Given the description of an element on the screen output the (x, y) to click on. 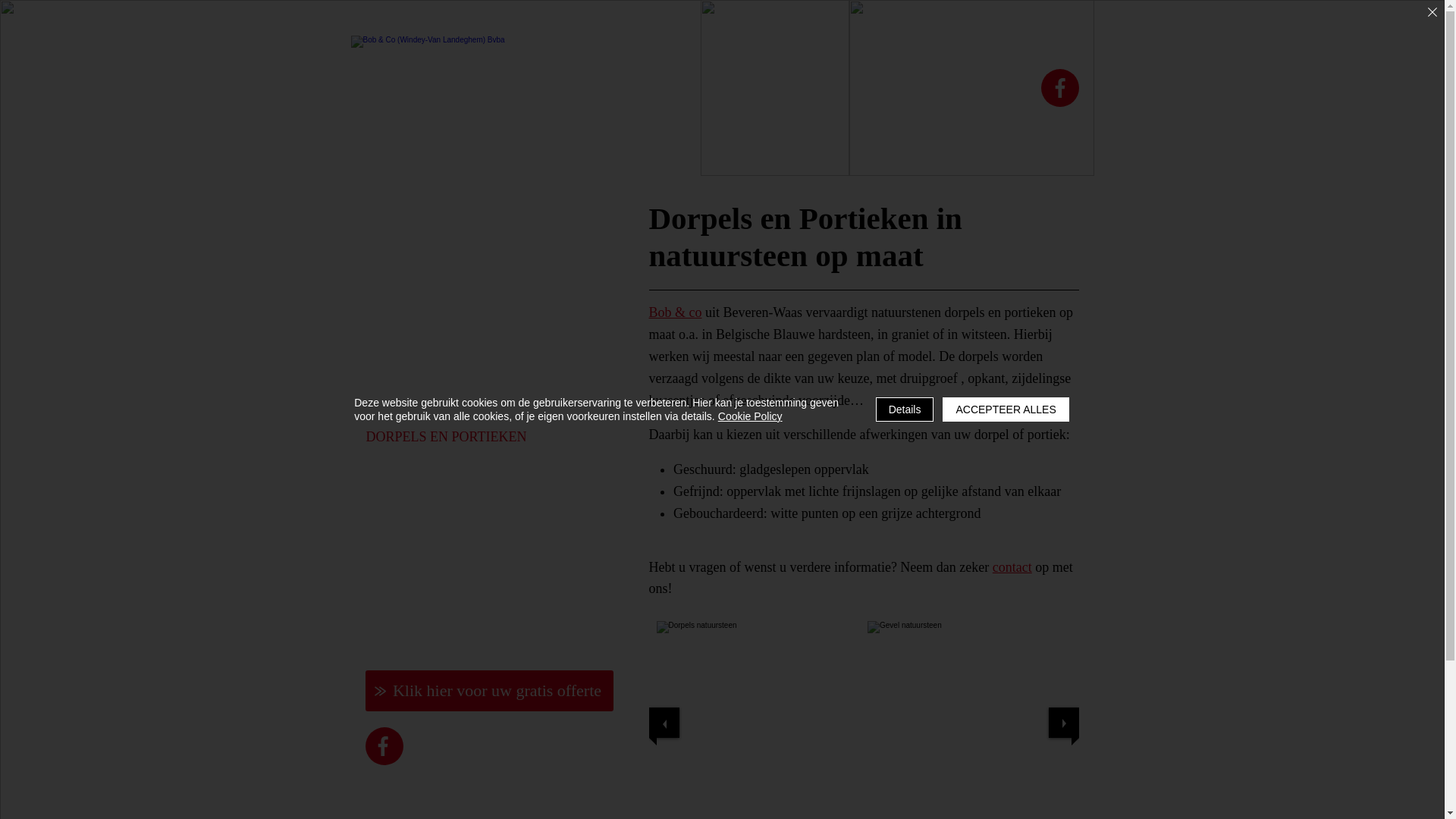
Bob & co Element type: text (675, 312)
TAFELS Element type: text (475, 363)
VLOEREN Element type: text (475, 545)
ACCEPTEER ALLES Element type: text (1005, 409)
contact Element type: text (1012, 566)
BLOG Element type: text (475, 582)
TABLETTEN EN TUSSENDORPELS Element type: text (475, 327)
TRAPPEN Element type: text (475, 291)
BADKAMERINRICHTING Element type: text (475, 400)
AANRECHTBLADEN VOOR KEUKEN Element type: text (475, 254)
Klik hier voor uw gratis offerte Element type: text (489, 690)
Details Element type: text (904, 409)
Cookie Policy Element type: text (750, 416)
CONTACT Element type: text (475, 618)
GEVELBEKLEDING Element type: text (475, 509)
GRAFZERKEN Element type: text (475, 473)
DORPELS EN PORTIEKEN Element type: text (475, 436)
HOME Element type: text (475, 218)
Bob & Co (Windey-Van Landeghem) Bvba Element type: hover (520, 87)
